Given the description of an element on the screen output the (x, y) to click on. 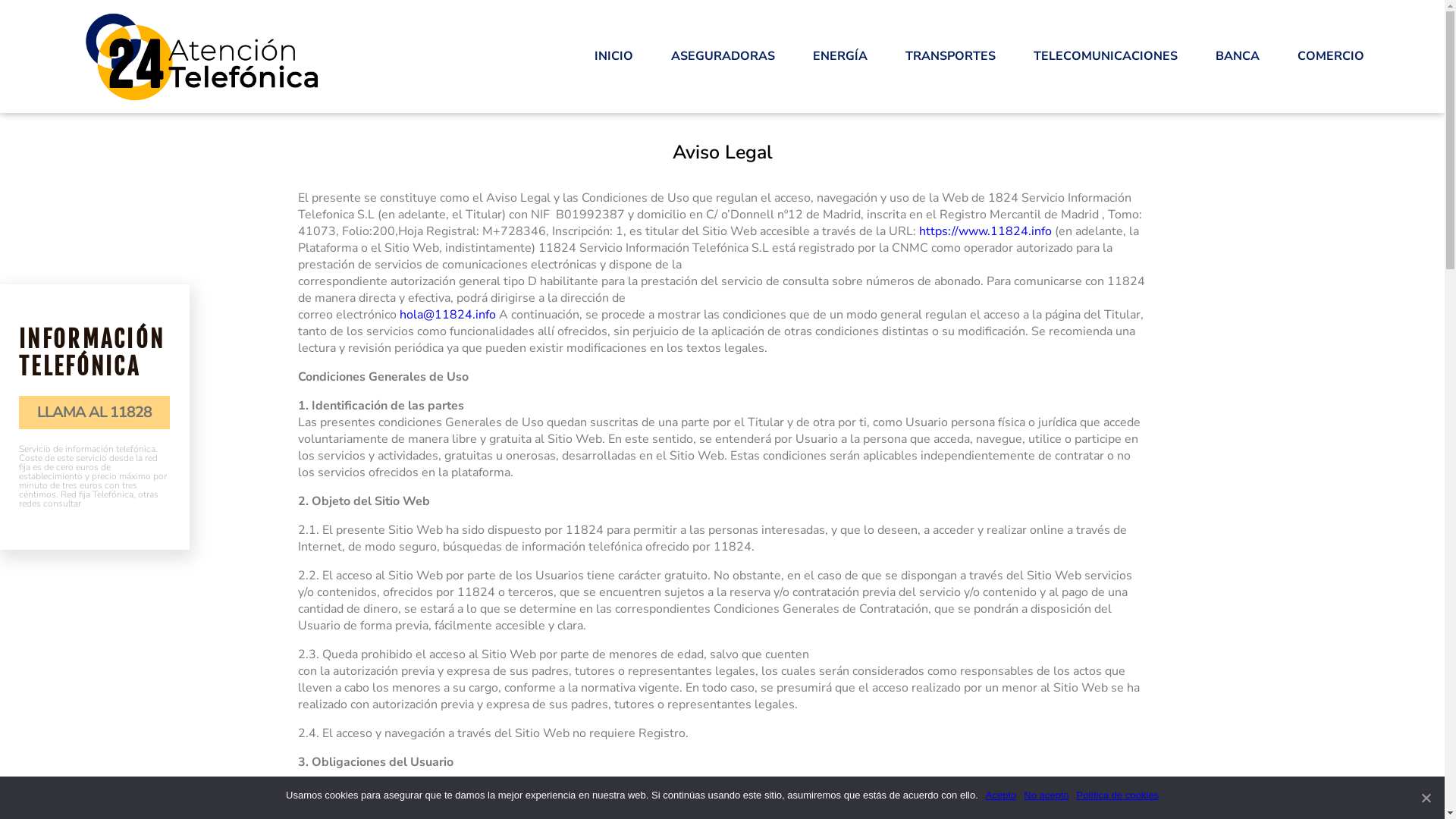
TRANSPORTES Element type: text (950, 55)
BANCA Element type: text (1237, 55)
COMERCIO Element type: text (1330, 55)
Acepto Element type: text (1000, 794)
TELECOMUNICACIONES Element type: text (1105, 55)
ASEGURADORAS Element type: text (723, 55)
https://www.11824.info Element type: text (985, 230)
LLAMA AL 11828 Element type: text (93, 412)
hola@11824.info Element type: text (446, 314)
No acepto Element type: text (1045, 794)
INICIO Element type: text (613, 55)
